Given the description of an element on the screen output the (x, y) to click on. 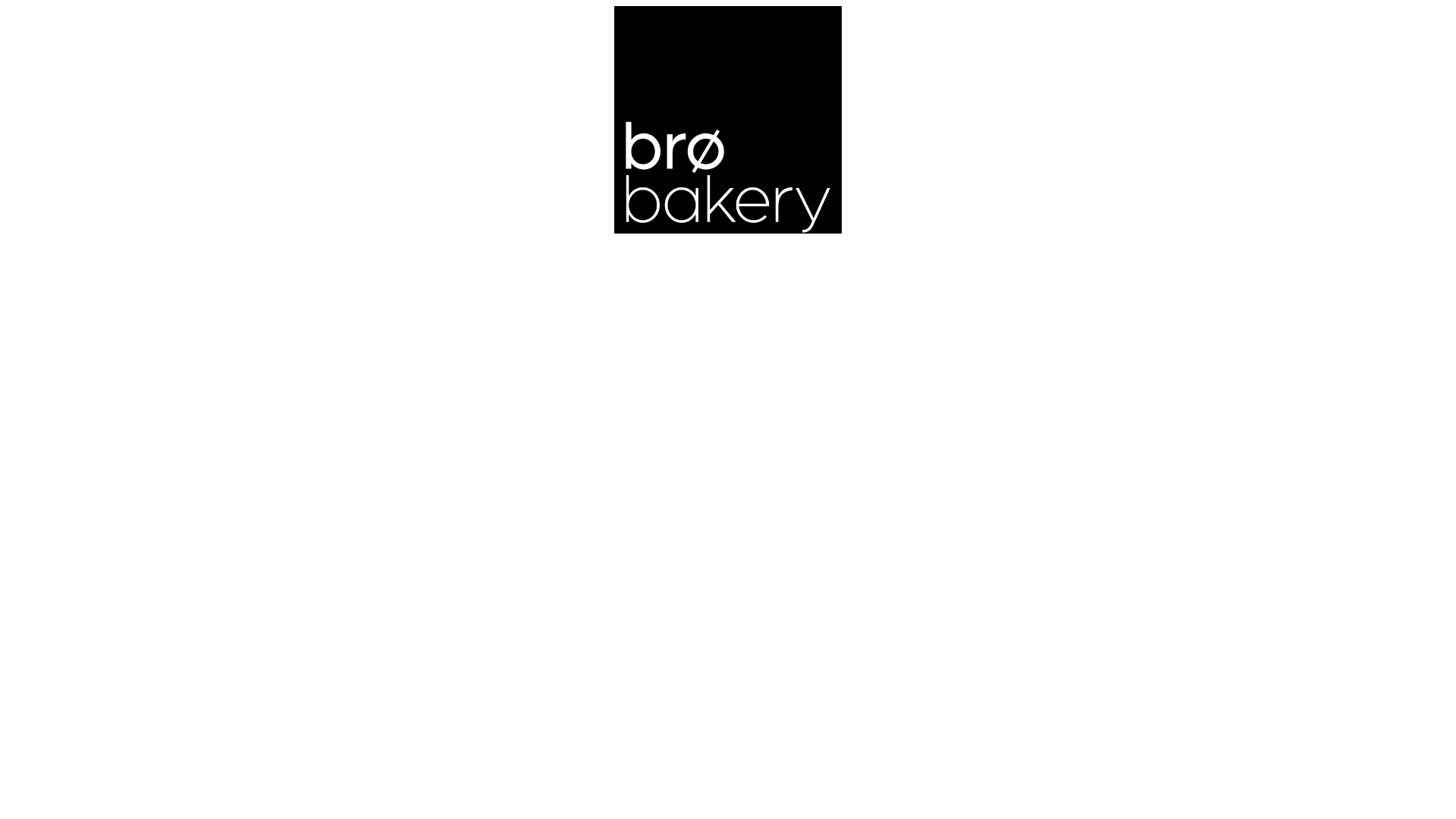
Bro Backery Element type: hover (727, 119)
